Given the description of an element on the screen output the (x, y) to click on. 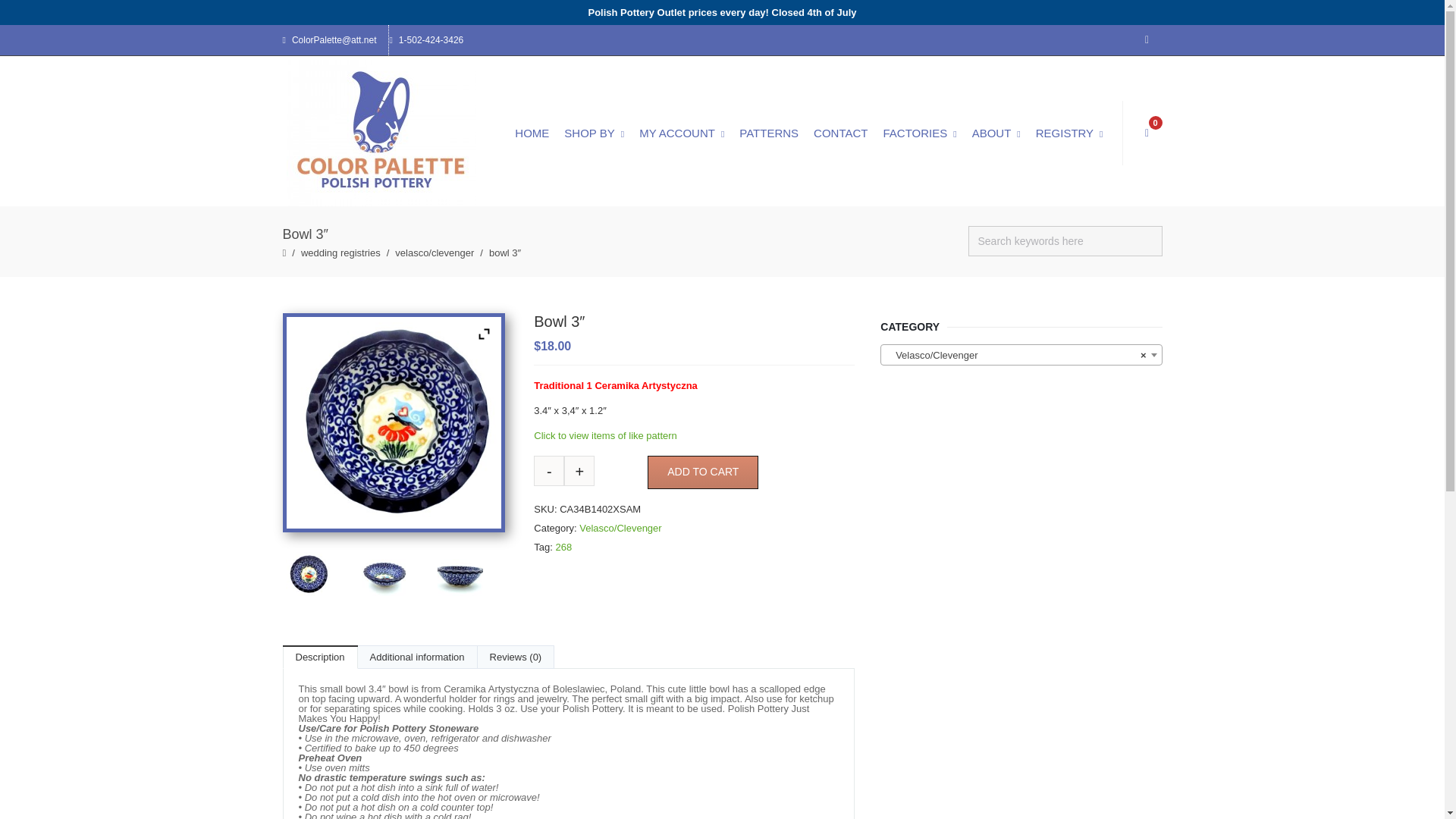
FACTORIES (919, 132)
CA 3.4 inch top scallop mini bowl 24 (471, 576)
Polish Pottery 3.4 inch top scallop mini bowl (319, 576)
REGISTRY (1068, 132)
PATTERNS (769, 132)
CONTACT (840, 132)
MY ACCOUNT (681, 132)
Polish Pottery 3.4 inch top scallop mini bowl (395, 424)
ABOUT (995, 132)
SHOP BY (593, 132)
- (549, 470)
Polish Pottery Patterns (769, 132)
Search keywords here (1064, 241)
Color Palette Polish Pottery Outlet (381, 132)
Polish Pottery 3.4 inch top scallop mini bowl 2 (395, 576)
